Given the description of an element on the screen output the (x, y) to click on. 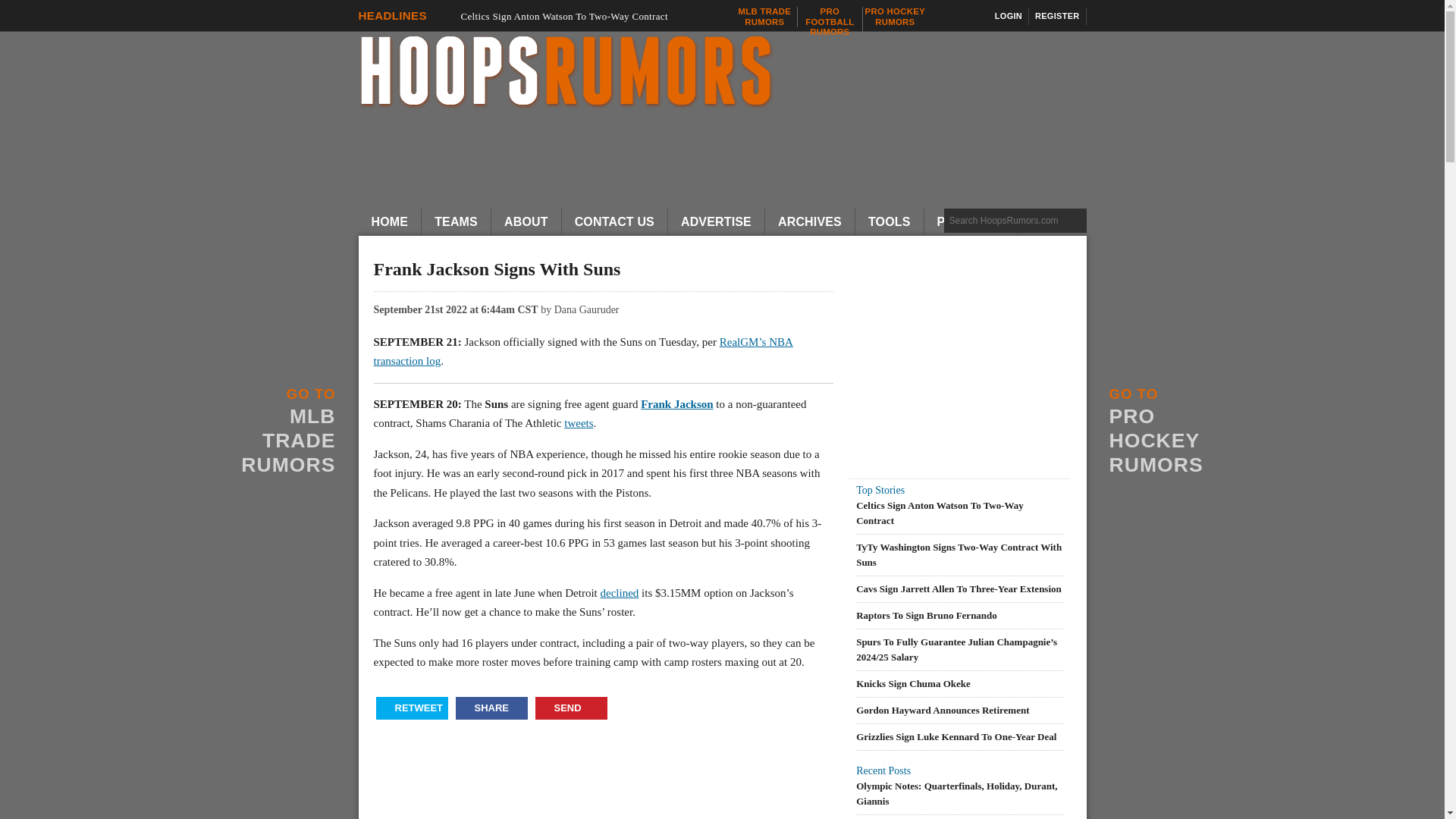
HOME (390, 221)
Share 'Frank Jackson Signs With Suns' on Facebook (490, 707)
REGISTER (764, 16)
teams (1057, 16)
Search (829, 21)
Search for: (457, 221)
Retweet 'Frank Jackson Signs With Suns' on Twitter (1014, 220)
TEAMS (1008, 16)
Celtics Sign Anton Watson To Two-Way Contract (411, 707)
Send Frank Jackson Signs With Suns with an email (895, 16)
Hoops Rumors (457, 221)
